Given the description of an element on the screen output the (x, y) to click on. 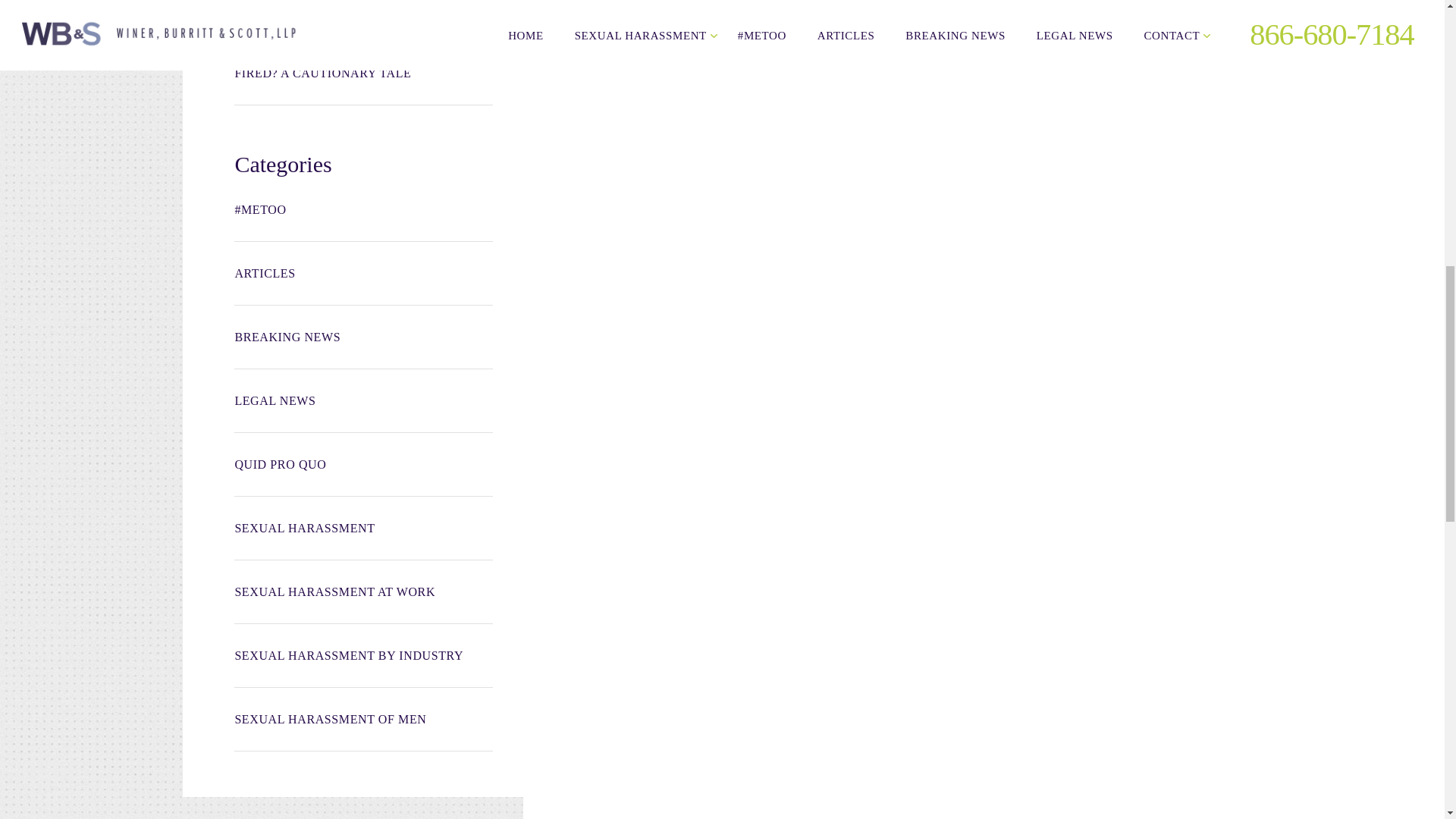
CAN MY TEN-YEAR-OLD TWEET GET ME FIRED? A CAUTIONARY TALE (363, 64)
SEXUAL HARASSMENT BY INDUSTRY (363, 655)
BREAKING NEWS (363, 337)
SEXUAL HARASSMENT (363, 528)
SEXUAL HARASSMENT AT WORK (363, 592)
LEGAL NEWS (363, 401)
SEXUAL HARASSMENT OF MEN (363, 719)
QUID PRO QUO (363, 464)
ARTICLES (363, 273)
